Given the description of an element on the screen output the (x, y) to click on. 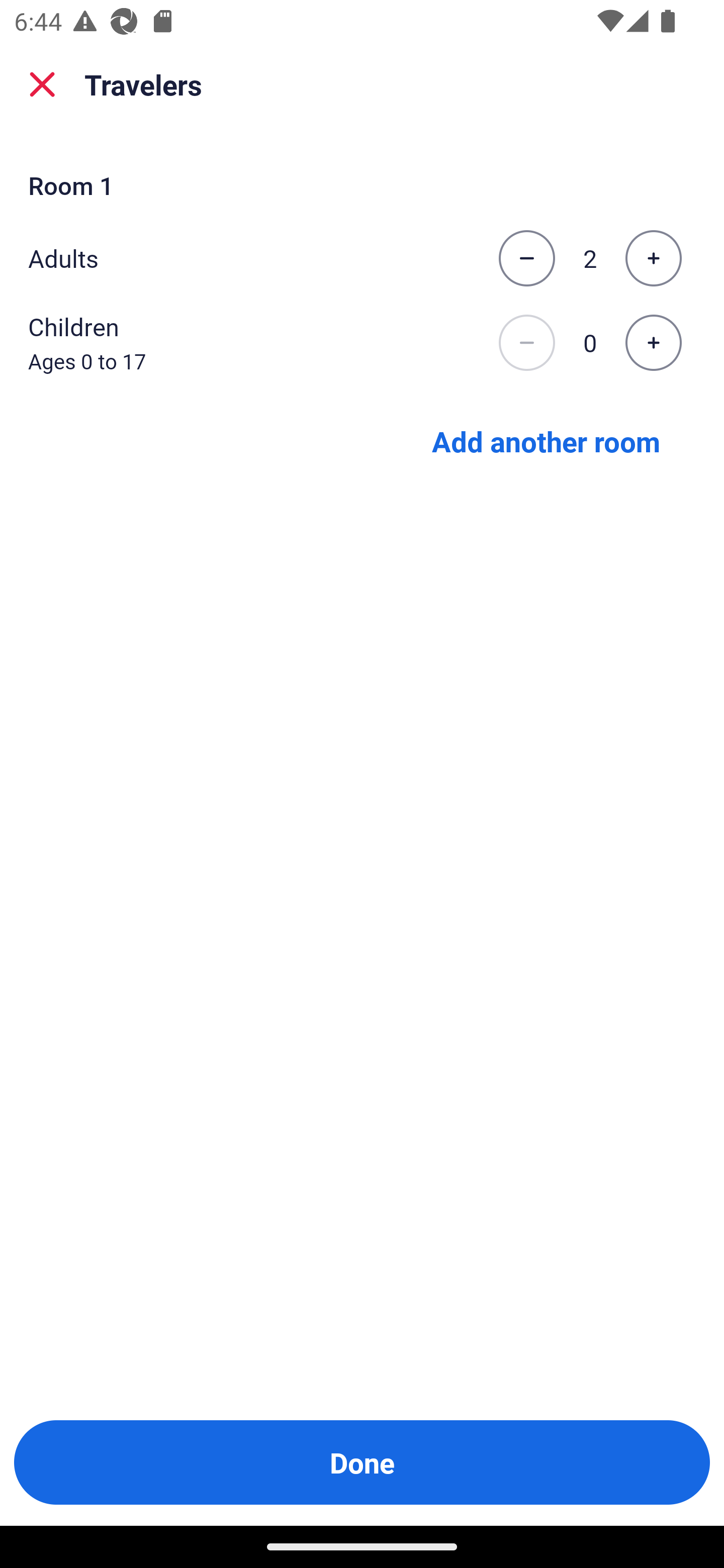
close (42, 84)
Decrease the number of adults (526, 258)
Increase the number of adults (653, 258)
Decrease the number of children (526, 343)
Increase the number of children (653, 343)
Add another room (545, 440)
Done (361, 1462)
